Given the description of an element on the screen output the (x, y) to click on. 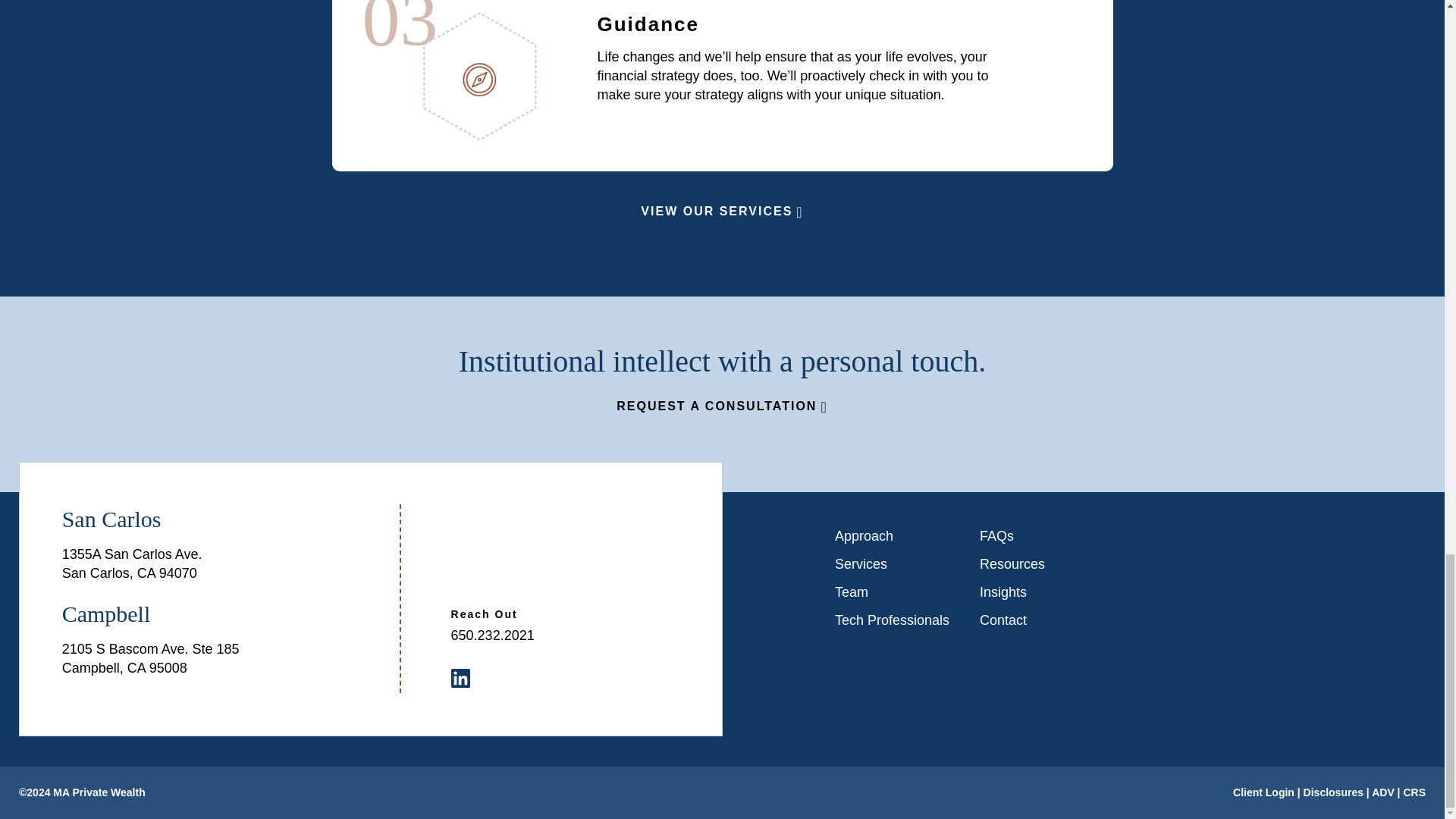
Resources (1036, 564)
Team (891, 592)
VIEW OUR SERVICES (721, 210)
ADV (1382, 792)
Tech Professionals (891, 619)
REQUEST A CONSULTATION (721, 405)
FAQs (1036, 535)
Disclosures (1332, 792)
Services (891, 564)
Insights (1036, 592)
